Given the description of an element on the screen output the (x, y) to click on. 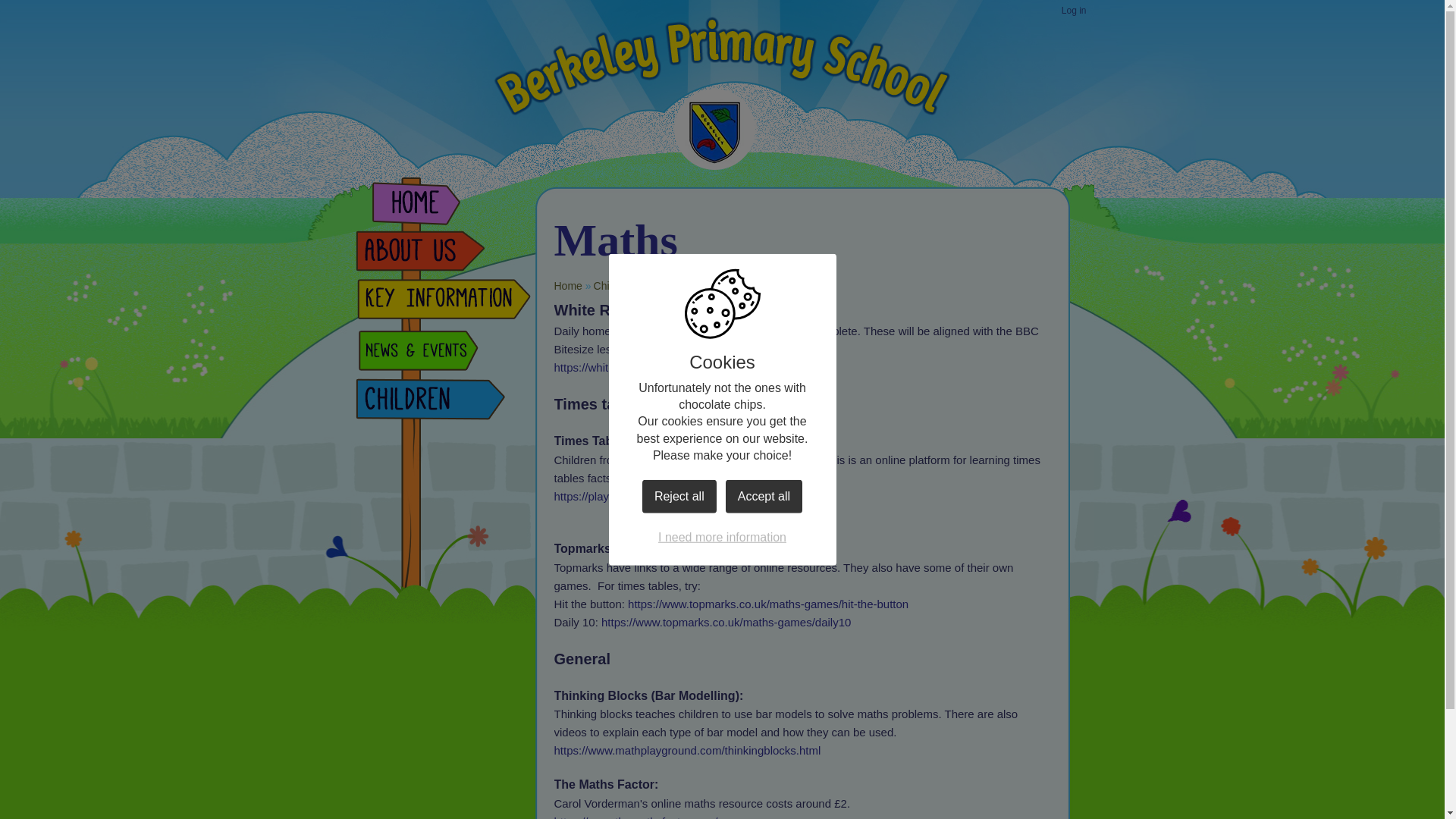
Home Page (713, 128)
Log in (1073, 11)
Home (566, 285)
Key Information (442, 303)
About Us (442, 254)
Home Learning (679, 285)
Children (613, 285)
Maths (742, 285)
Home (442, 205)
Home Page (713, 128)
